Given the description of an element on the screen output the (x, y) to click on. 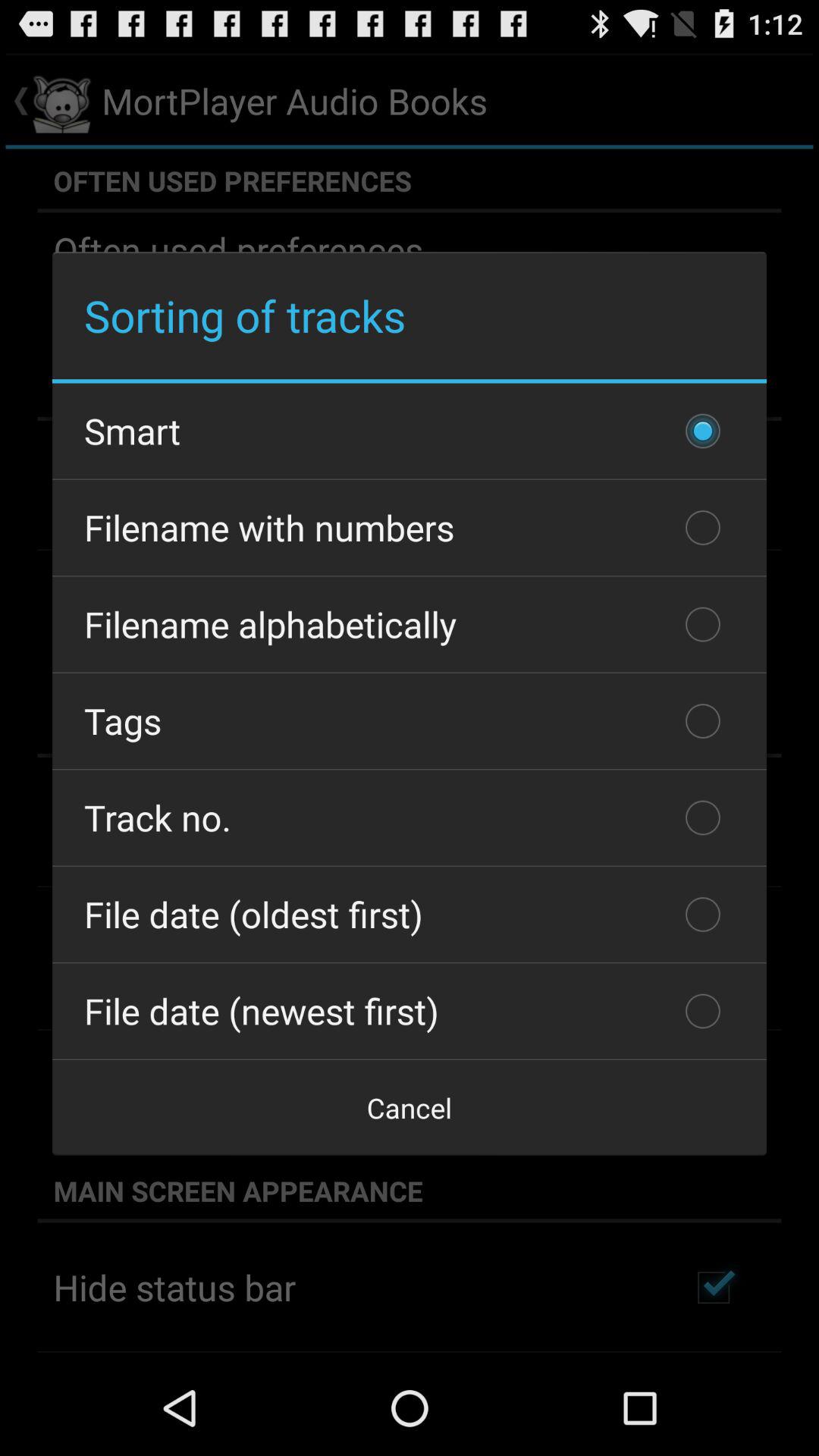
choose cancel (409, 1107)
